Given the description of an element on the screen output the (x, y) to click on. 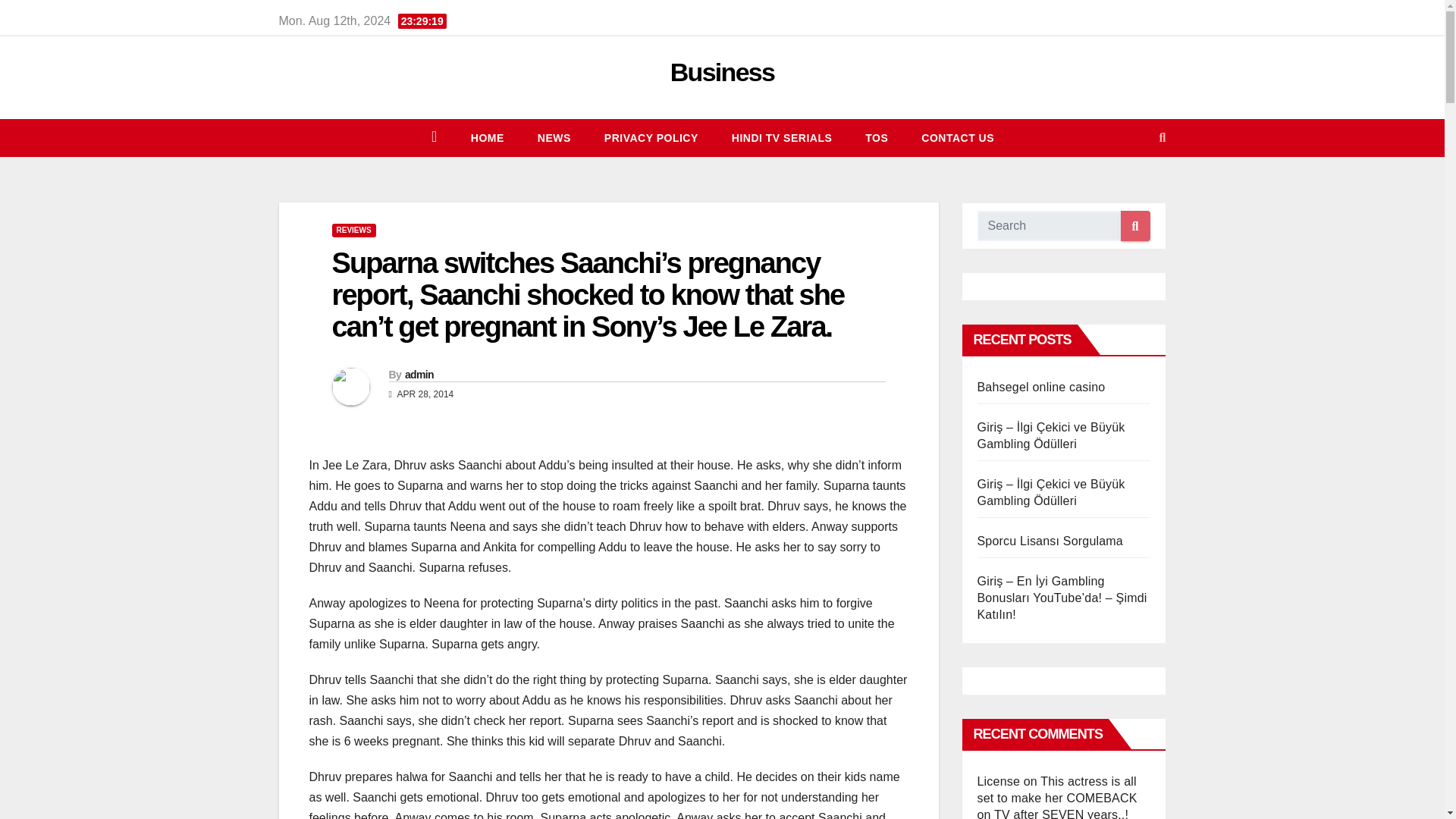
HOME (487, 137)
Business (721, 71)
Contact Us (957, 137)
Home (487, 137)
Hindi Tv Serials (781, 137)
PRIVACY POLICY (651, 137)
REVIEWS (353, 230)
TOS (876, 137)
NEWS (554, 137)
Bahsegel online casino (1040, 386)
